Given the description of an element on the screen output the (x, y) to click on. 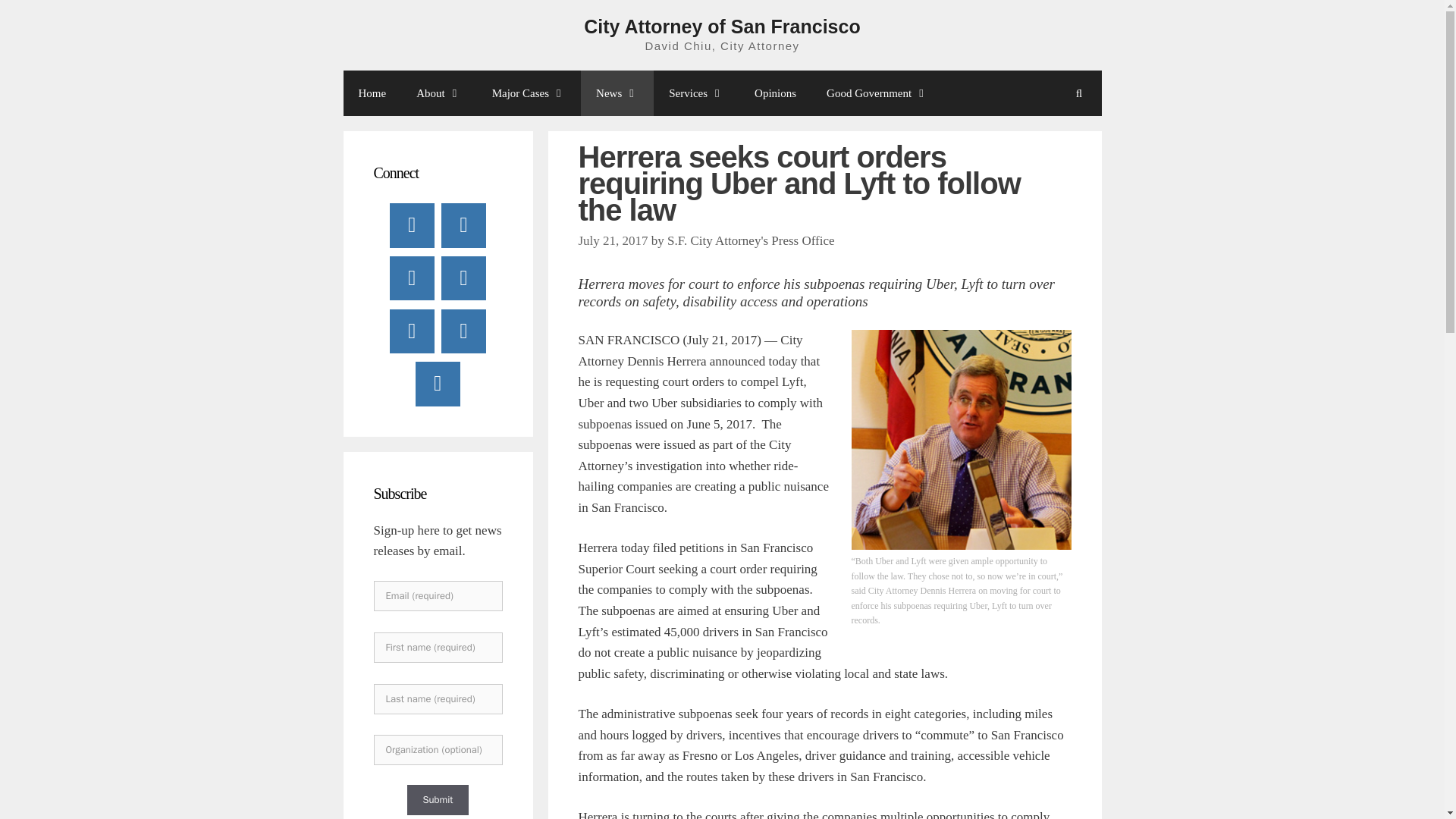
Submit (437, 799)
City Attorney of San Francisco on Instagram (411, 330)
City Attorney of San Francisco on Rss (437, 383)
City Attorney of San Francisco on Linkedin (462, 278)
City Attorney of San Francisco on Facebook (411, 225)
News (616, 92)
View all posts by S.F. City Attorney's Press Office (750, 240)
City Attorney of San Francisco on Youtube (411, 278)
About (439, 92)
City Attorney of San Francisco on Envelope (462, 330)
